Given the description of an element on the screen output the (x, y) to click on. 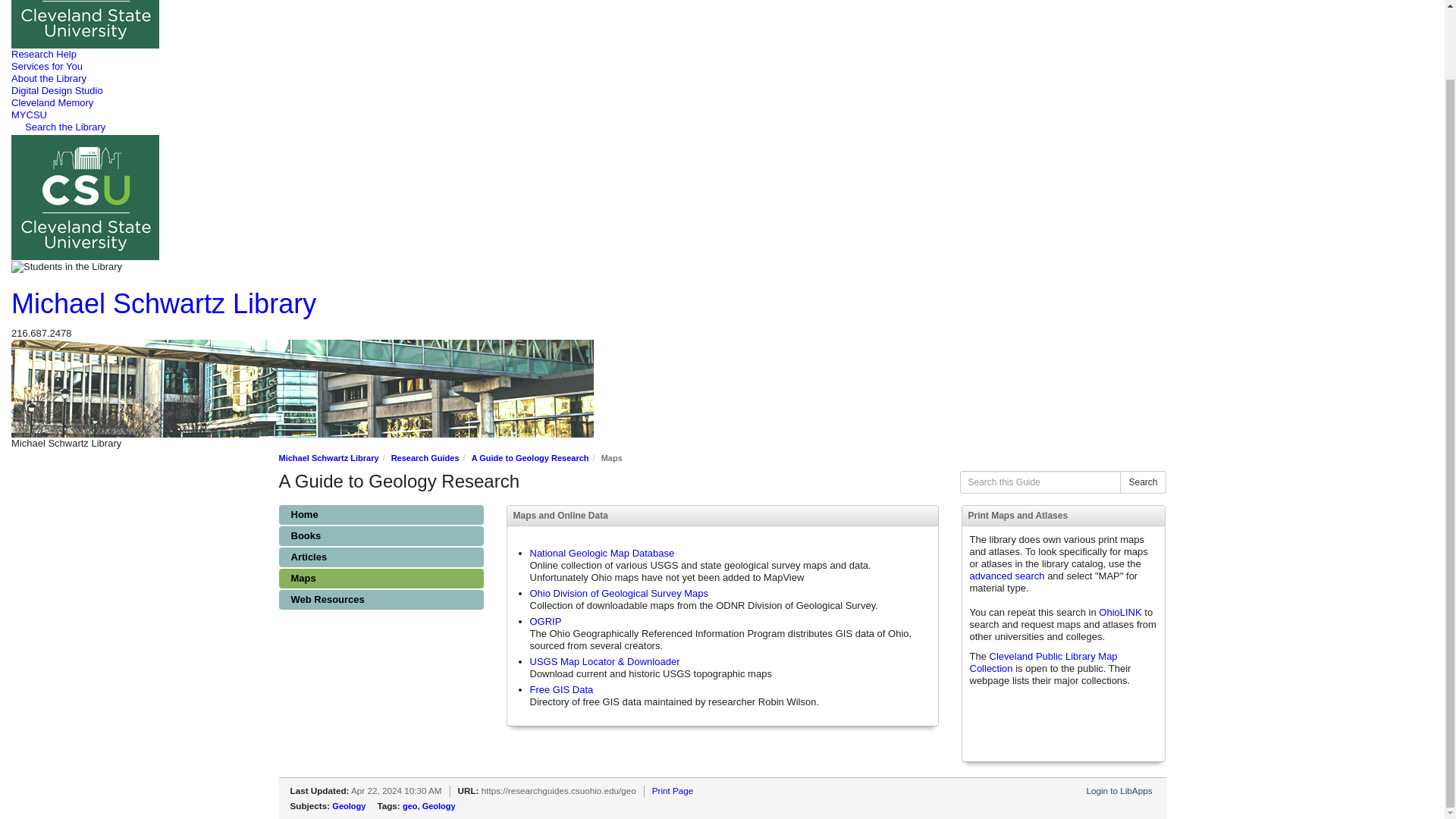
Web Resources (381, 599)
Geology (438, 805)
Services for You (46, 66)
Michael Schwartz Library (163, 303)
MYCSU (28, 114)
Digital Design Studio (57, 90)
Cleveland Memory (52, 102)
advanced search (1006, 575)
Books (381, 536)
Print Page (673, 790)
